Given the description of an element on the screen output the (x, y) to click on. 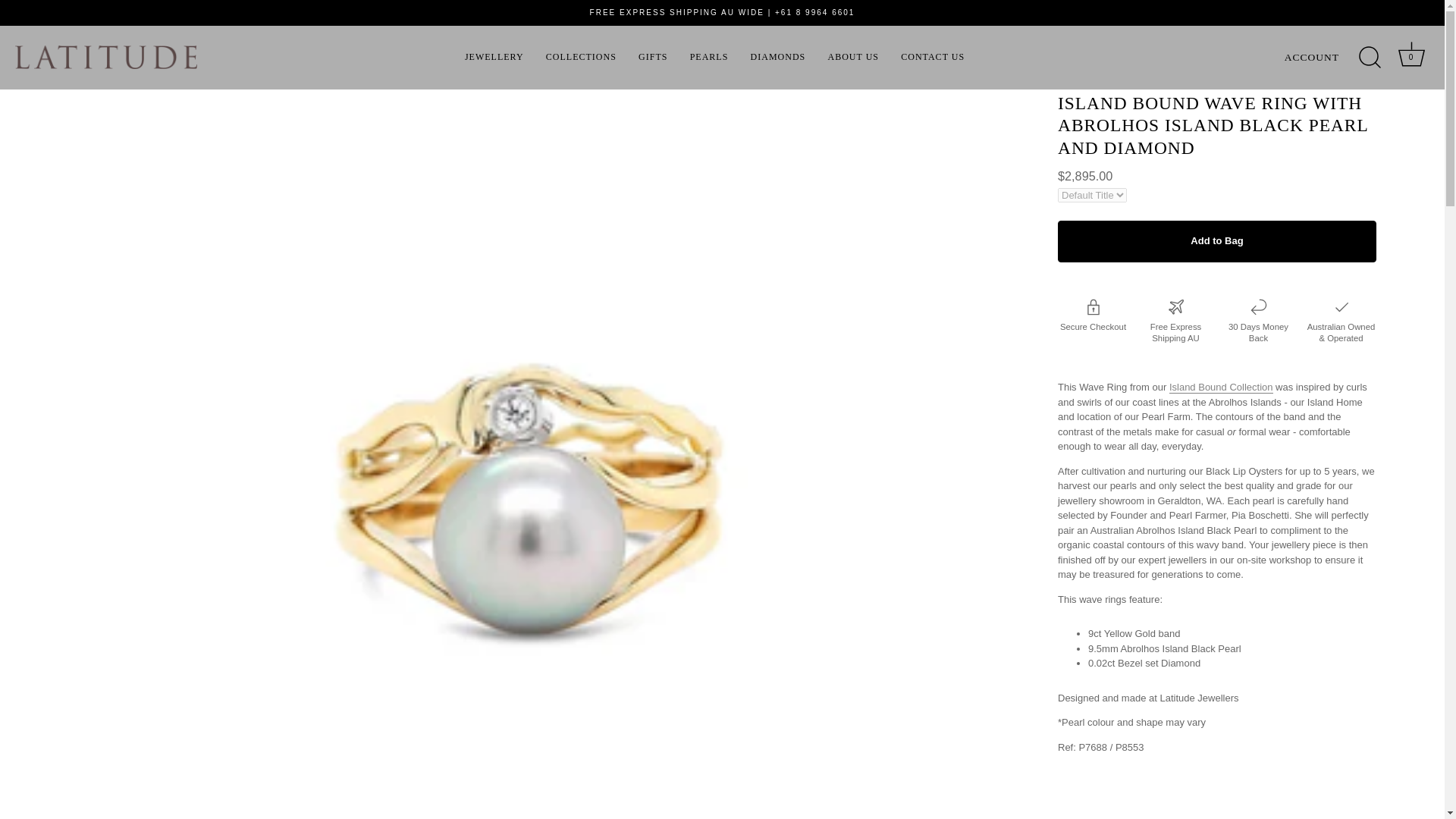
GIFTS (652, 57)
Island Bound Collection (1220, 387)
CART (1411, 53)
JEWELLERY (494, 57)
COLLECTIONS (580, 57)
PEARLS (708, 57)
